Given the description of an element on the screen output the (x, y) to click on. 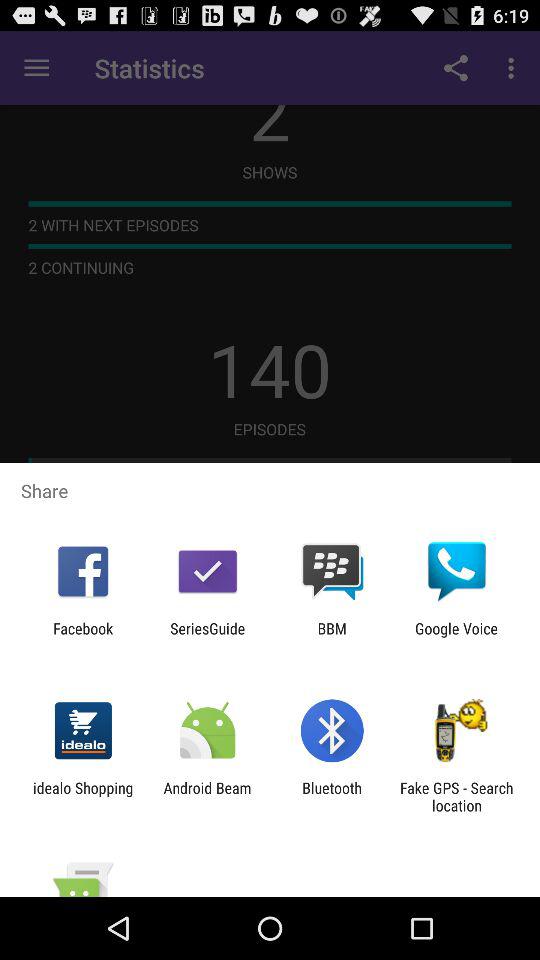
swipe to the idealo shopping icon (83, 796)
